Given the description of an element on the screen output the (x, y) to click on. 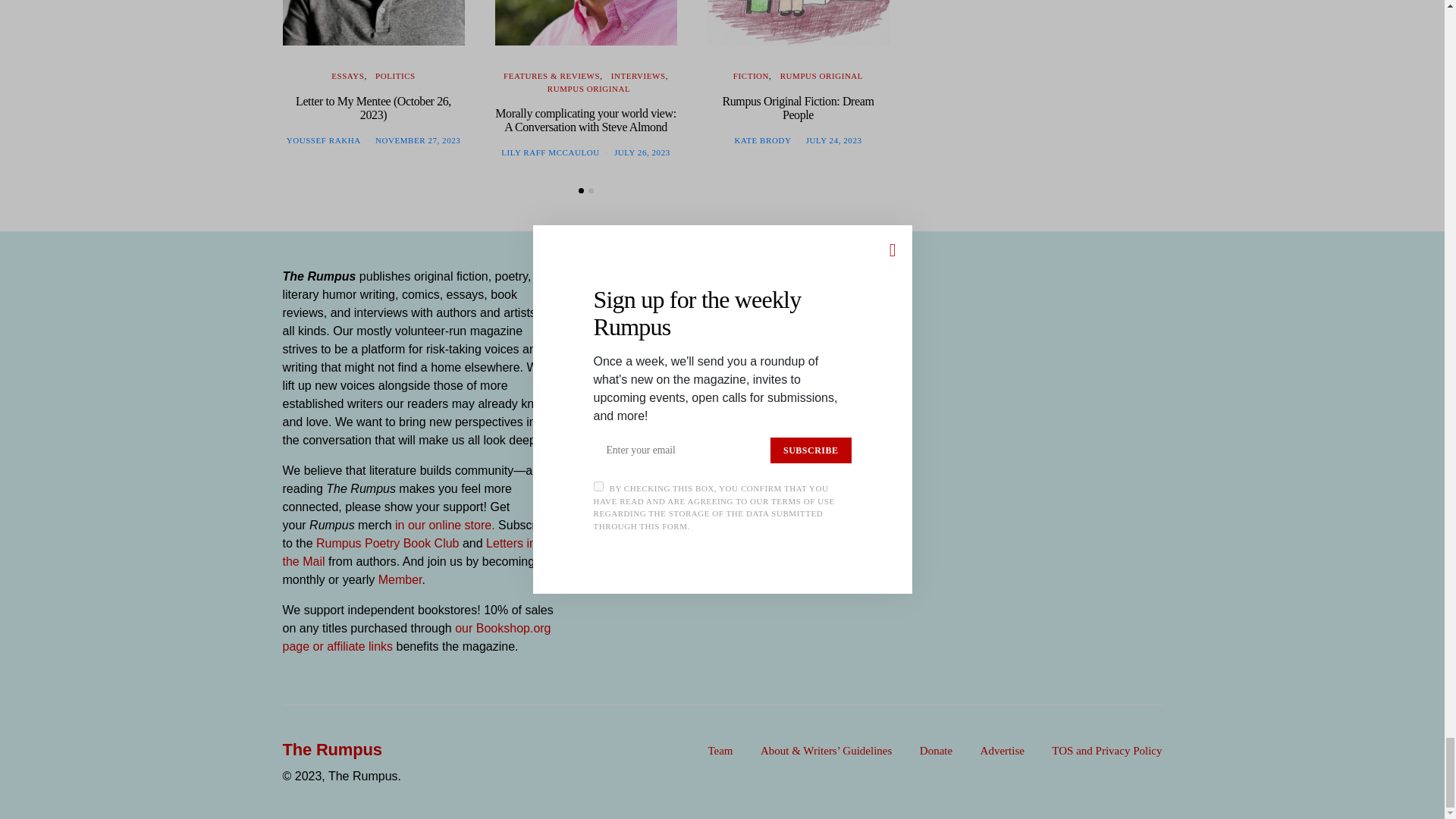
View all posts by Kate Brody (763, 139)
View all posts by Lily Raff McCaulou (549, 152)
on (590, 374)
View all posts by Youssef Rakha (323, 139)
